Given the description of an element on the screen output the (x, y) to click on. 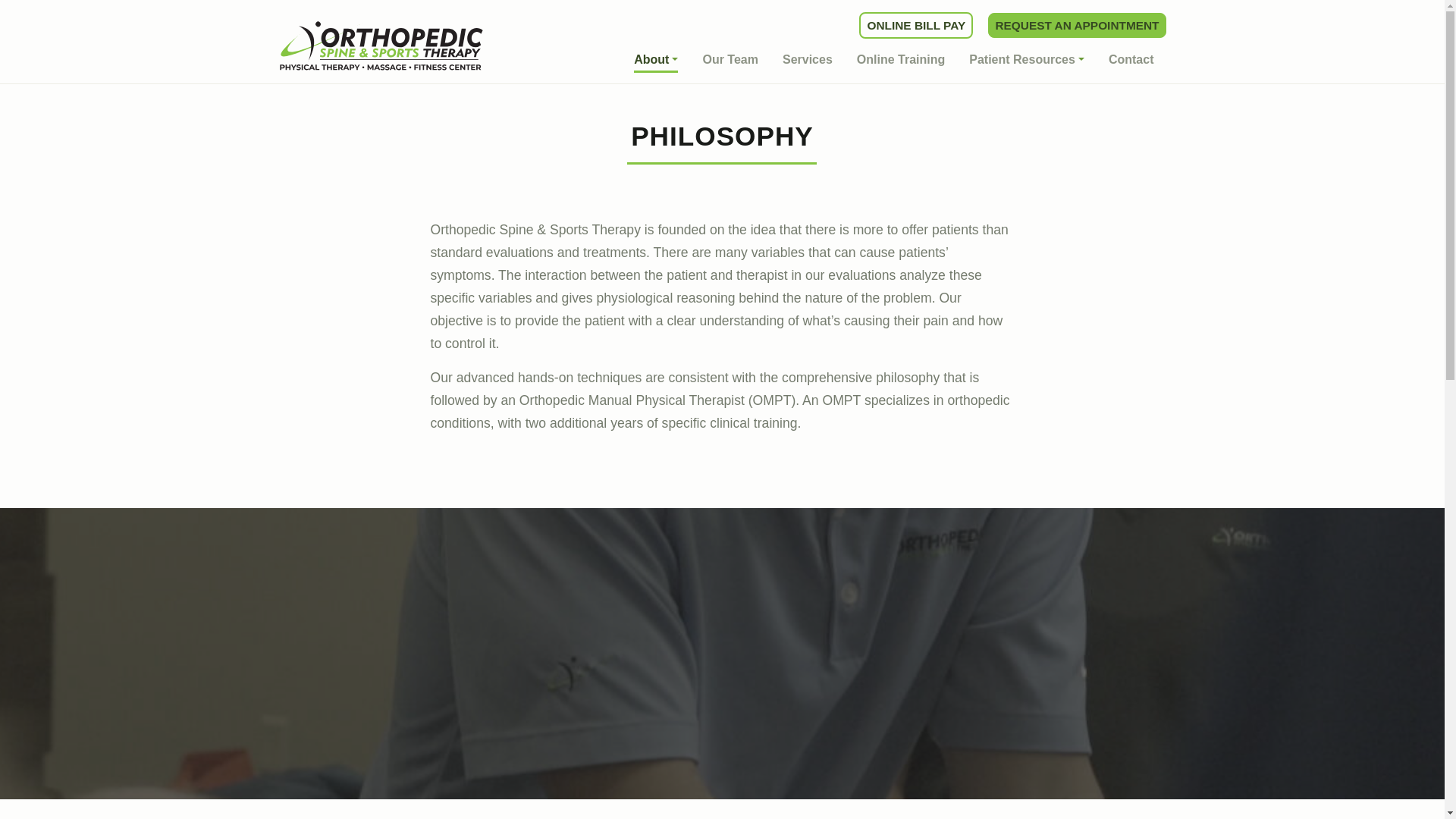
Online Training (900, 59)
About (655, 60)
Patient Resources (1026, 59)
ONLINE BILL PAY (915, 25)
Services (807, 59)
REQUEST AN APPOINTMENT (1077, 25)
Our Team (729, 59)
Contact (1131, 59)
